Given the description of an element on the screen output the (x, y) to click on. 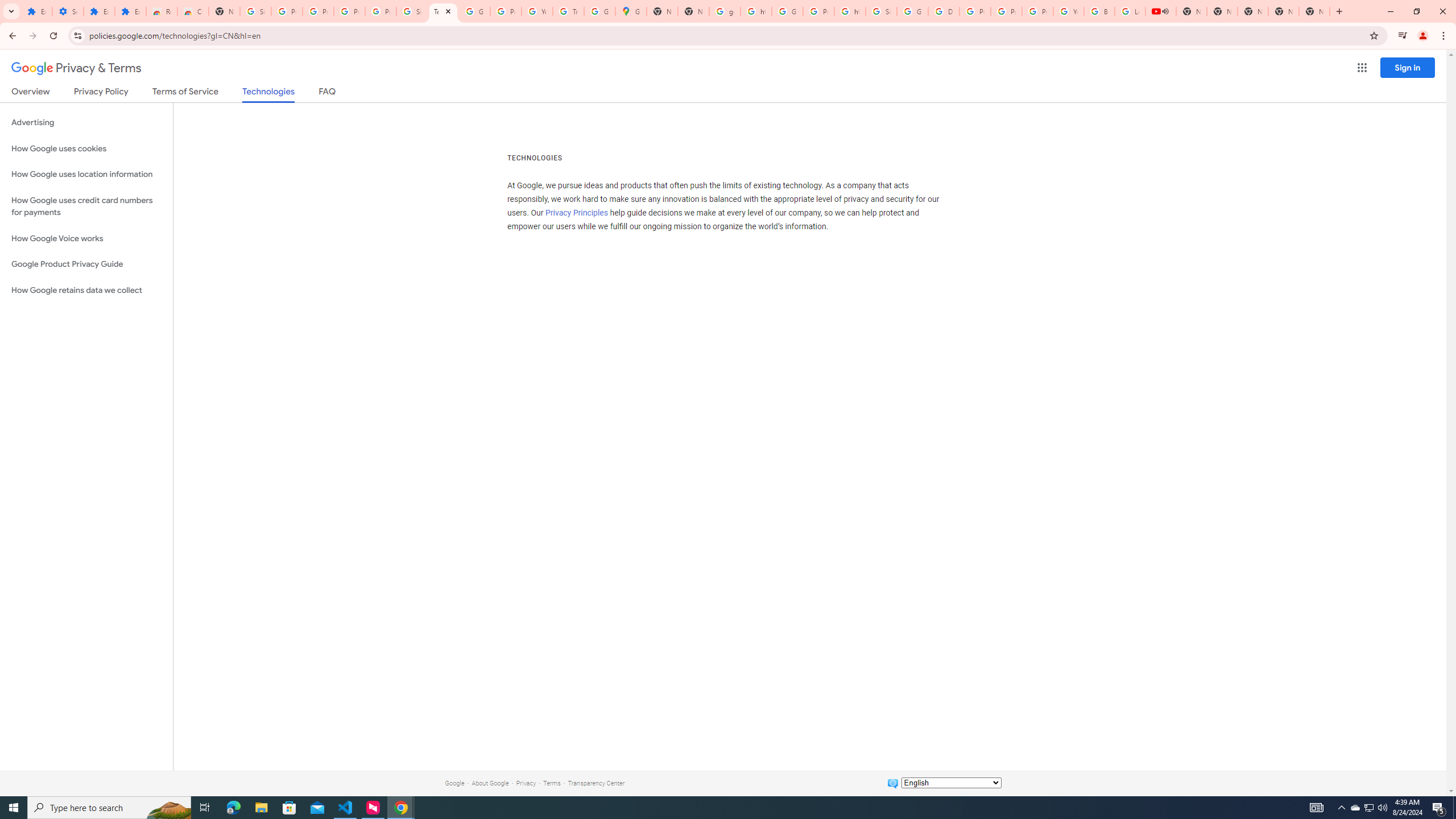
https://scholar.google.com/ (849, 11)
Google Maps (631, 11)
Sign in - Google Accounts (255, 11)
Chrome Web Store - Themes (192, 11)
Sign in - Google Accounts (881, 11)
YouTube (1068, 11)
